Given the description of an element on the screen output the (x, y) to click on. 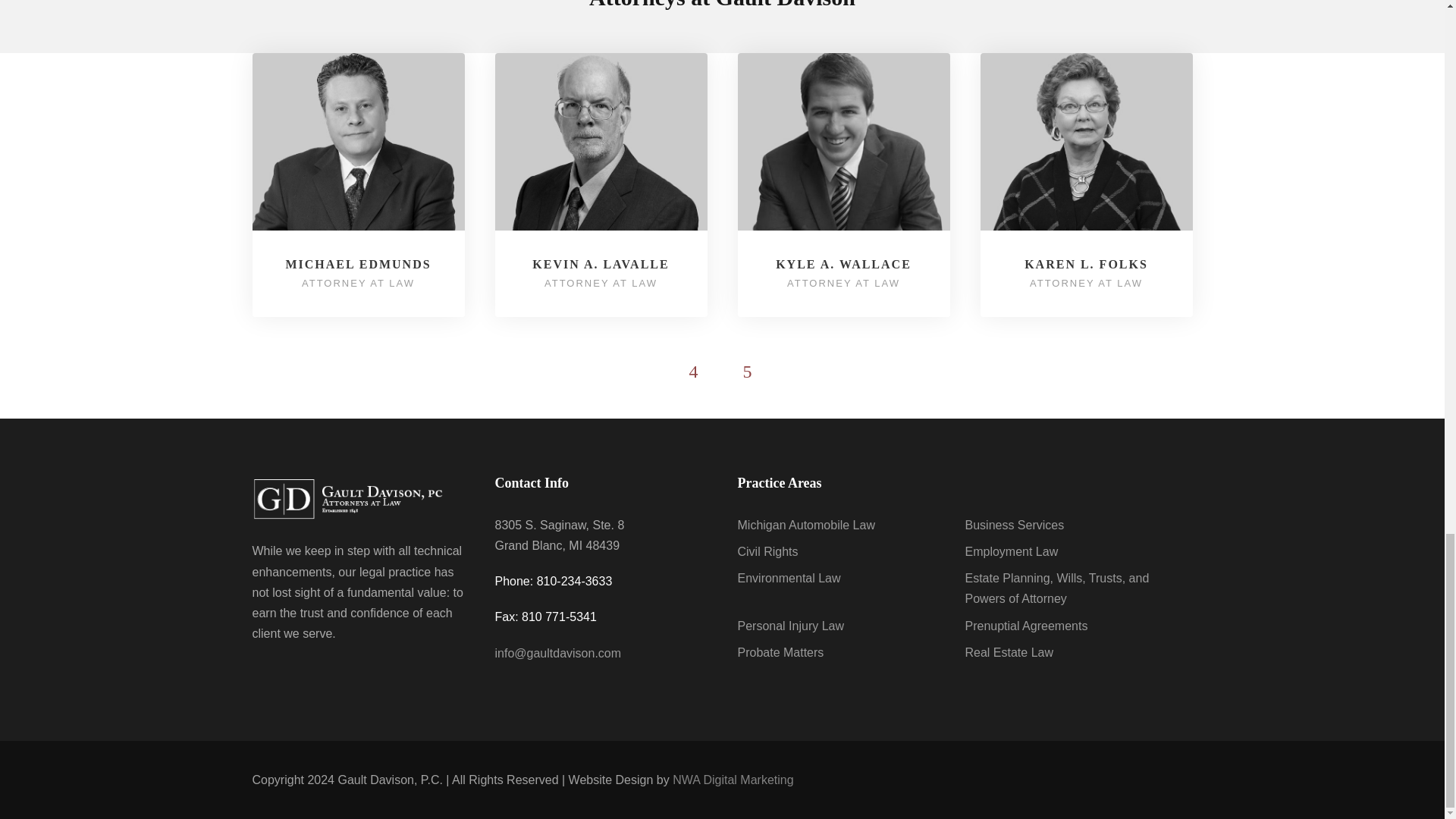
attorn-kevin (600, 141)
KYLE A. WALLACE (843, 264)
MICHAEL EDMUNDS (357, 264)
staff-karen (1085, 141)
KAREN L. FOLKS (1086, 264)
attorn-kyle (842, 141)
KEVIN A. LAVALLE (600, 264)
attorn-mike (357, 141)
